Given the description of an element on the screen output the (x, y) to click on. 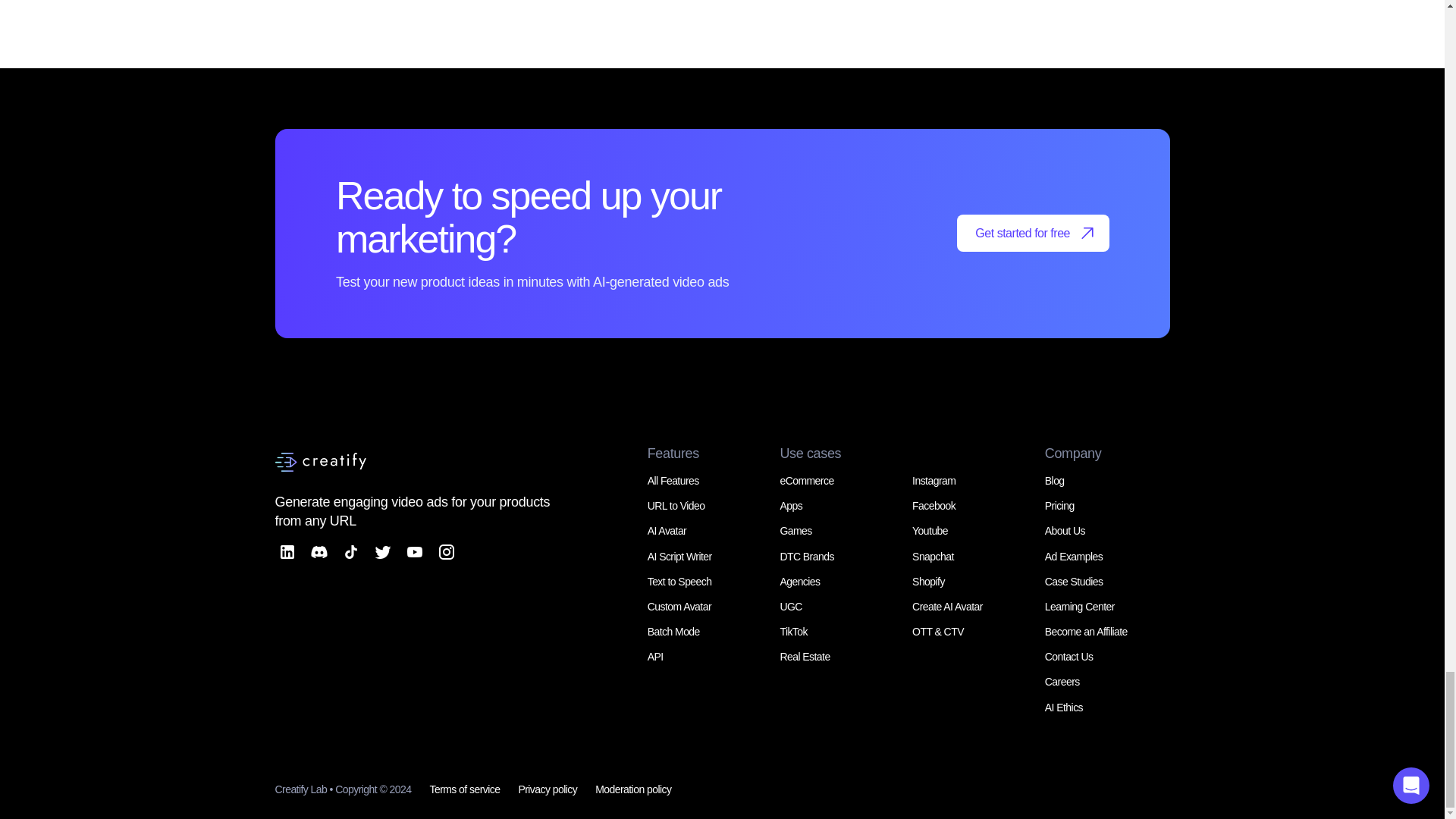
URL to Video (675, 505)
Instagram (933, 480)
UGC (790, 606)
Facebook (933, 505)
Custom Avatar (679, 606)
AI Script Writer (679, 556)
API (655, 656)
Agencies (798, 581)
Text to Speech (679, 581)
Games (794, 530)
TikTok (793, 631)
All Features (672, 480)
AI Avatar (667, 530)
DTC Brands (805, 556)
Get started for free (1032, 232)
